Given the description of an element on the screen output the (x, y) to click on. 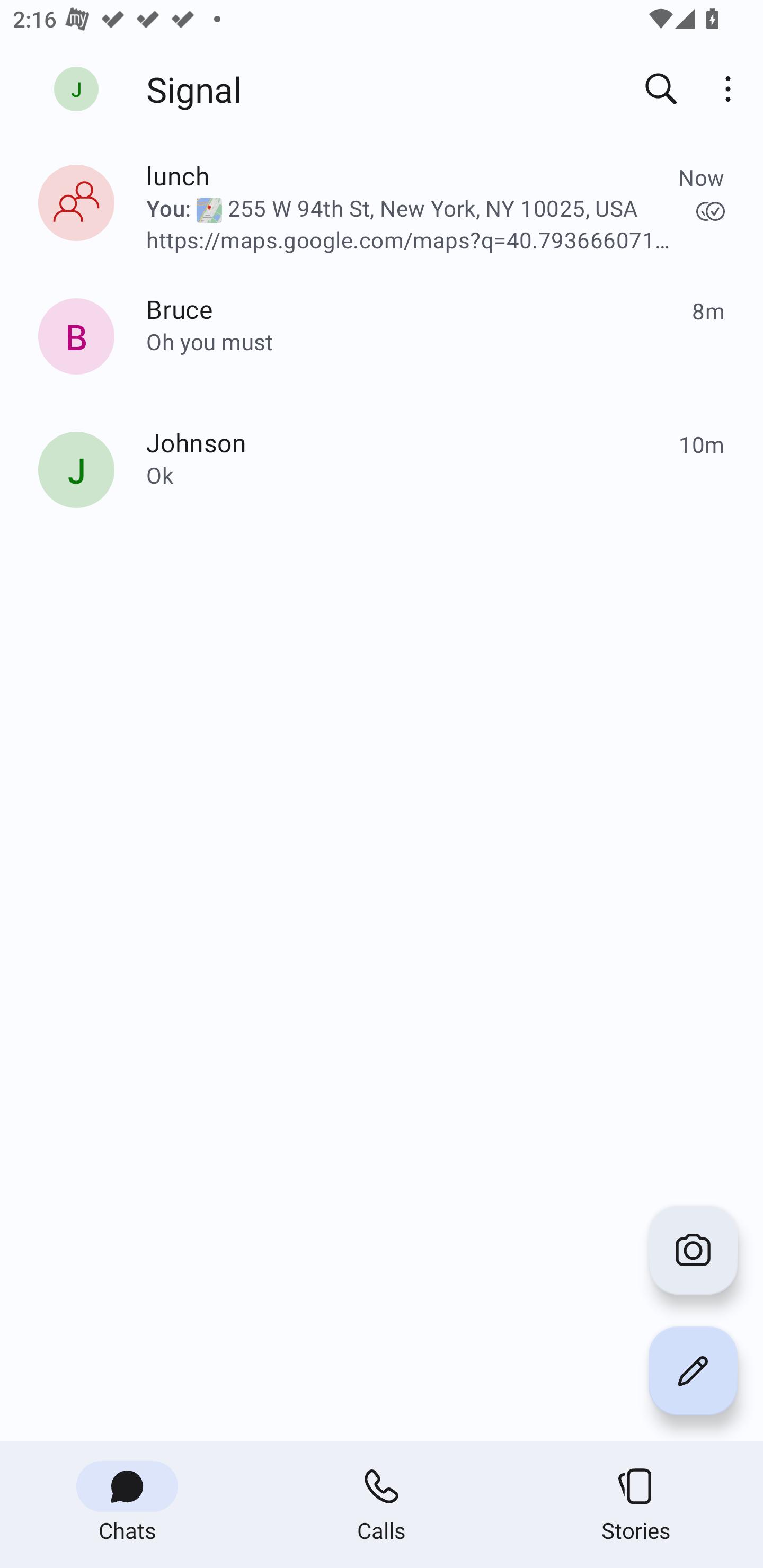
Contact Photo Image Johnson 10m Badge Ok (381, 473)
